Given the description of an element on the screen output the (x, y) to click on. 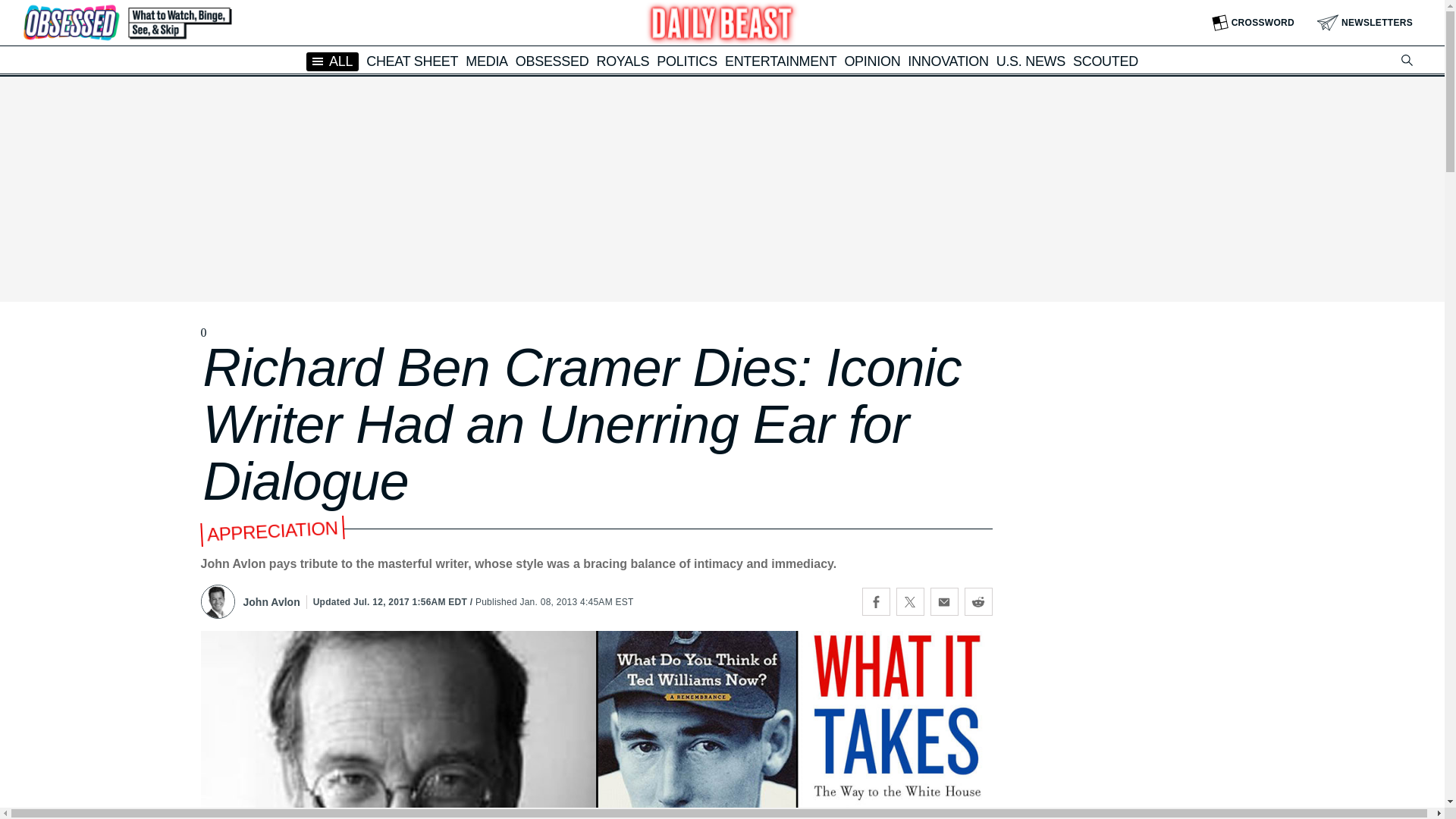
INNOVATION (947, 60)
OBSESSED (552, 60)
ROYALS (622, 60)
SCOUTED (1105, 60)
U.S. NEWS (1030, 60)
POLITICS (686, 60)
ENTERTAINMENT (780, 60)
CHEAT SHEET (412, 60)
NEWSLETTERS (1364, 22)
ALL (331, 60)
